Given the description of an element on the screen output the (x, y) to click on. 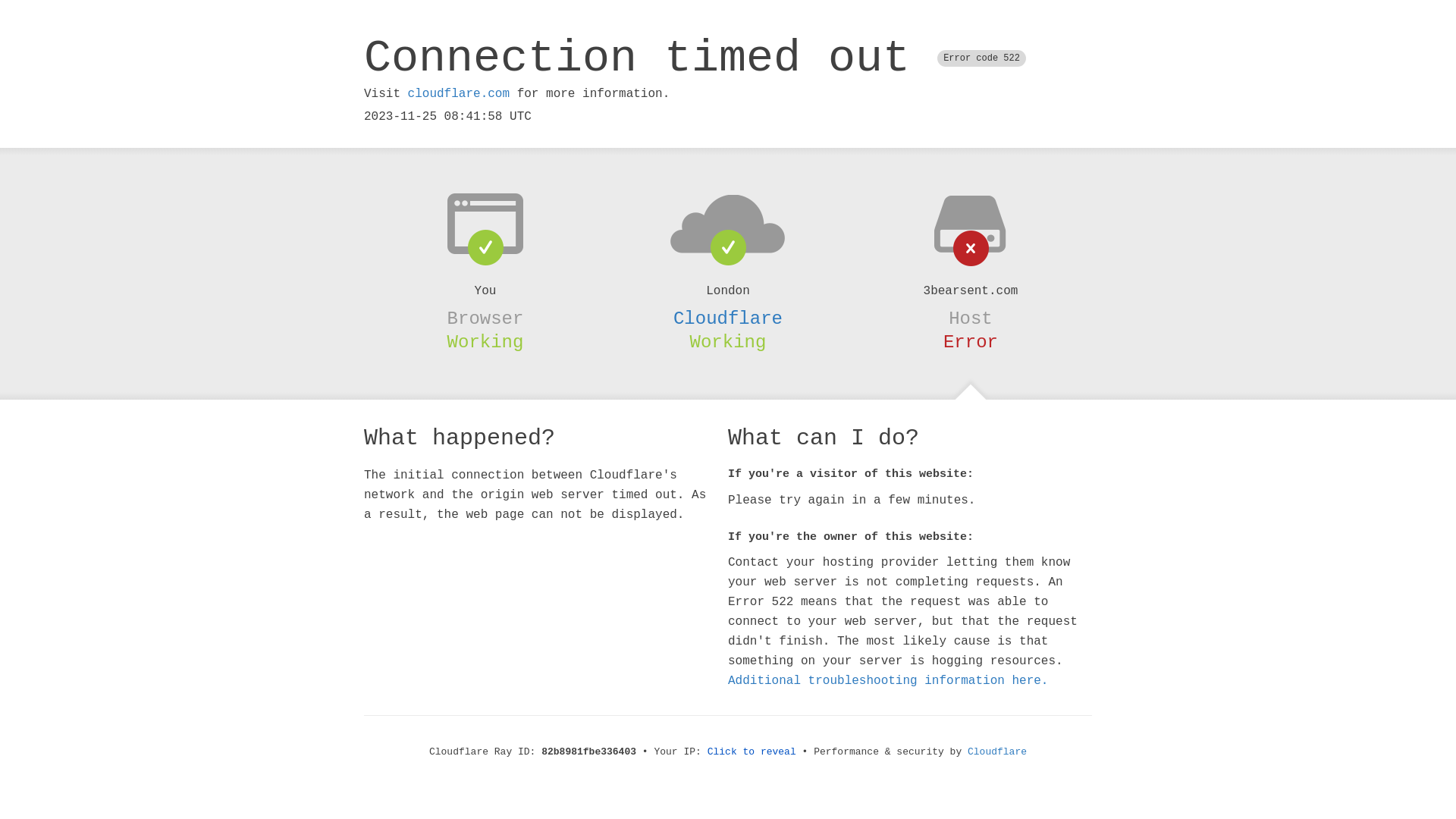
cloudflare.com Element type: text (458, 93)
Additional troubleshooting information here. Element type: text (888, 680)
Cloudflare Element type: text (727, 318)
Click to reveal Element type: text (751, 751)
Cloudflare Element type: text (996, 751)
